Given the description of an element on the screen output the (x, y) to click on. 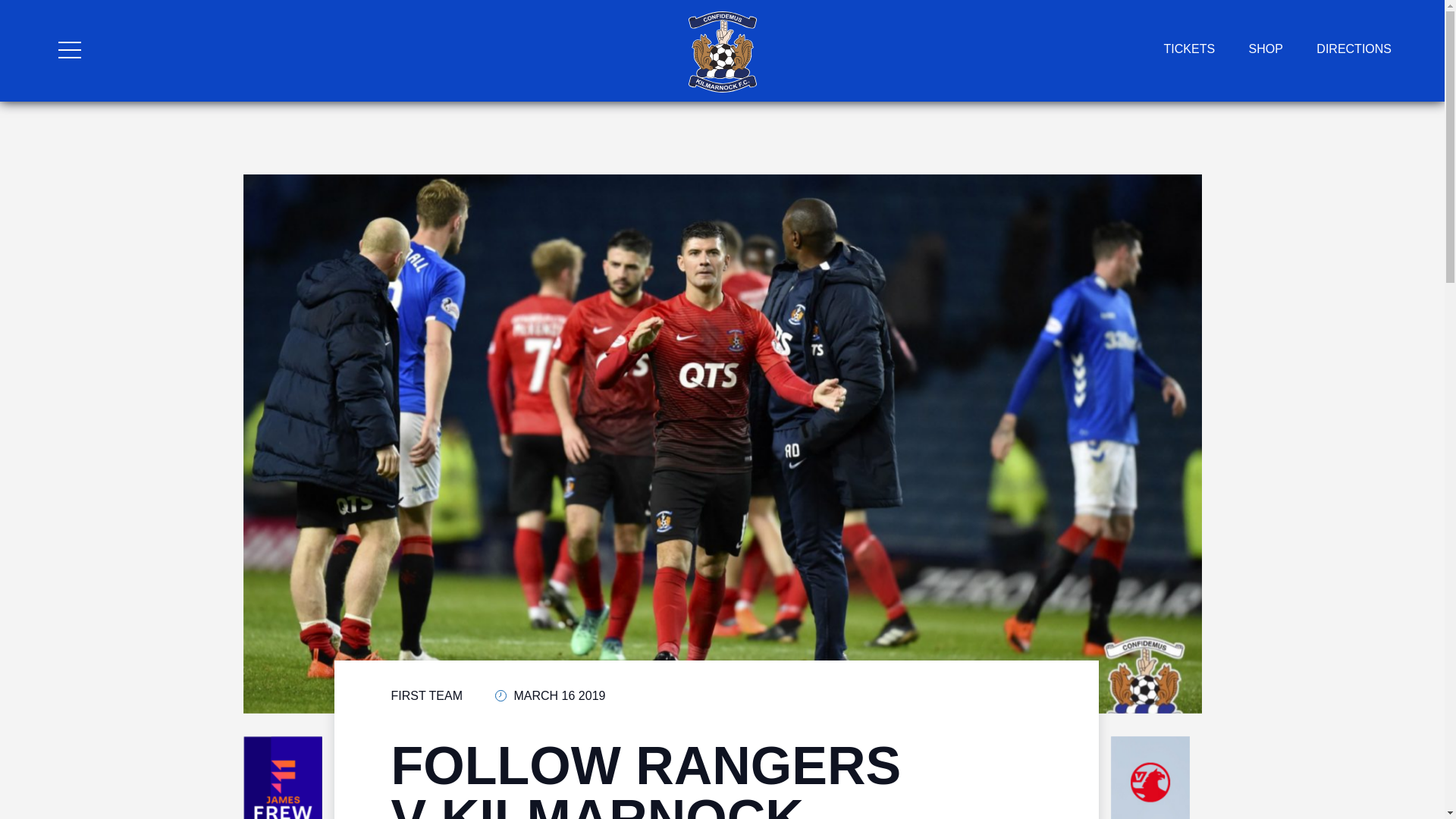
SHOP (1265, 49)
DIRECTIONS (1353, 49)
TICKETS (1189, 49)
